Given the description of an element on the screen output the (x, y) to click on. 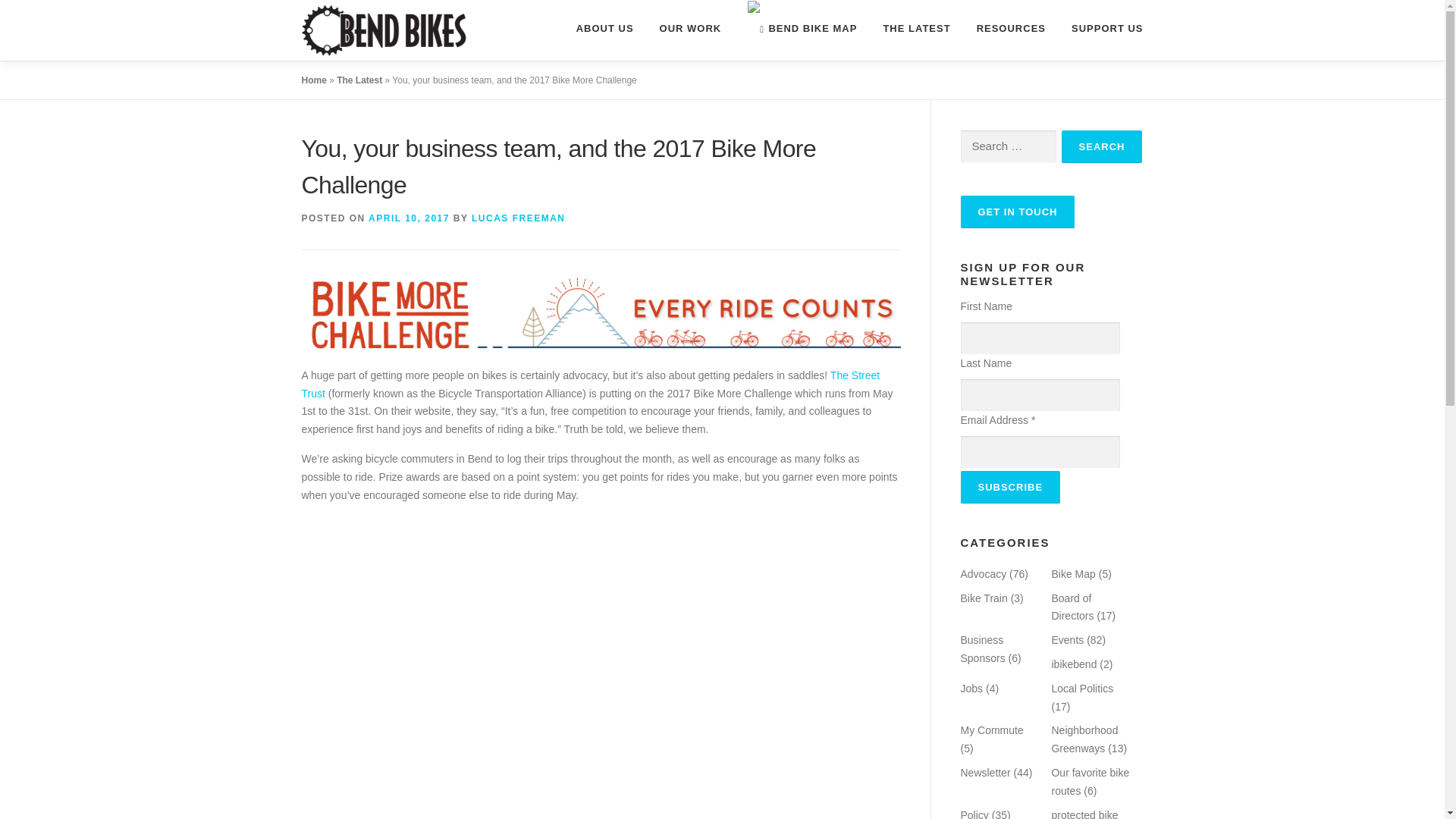
THE LATEST (915, 28)
Search (1101, 146)
Advocacy (982, 573)
Board of Directors (1072, 607)
Search (1101, 146)
Subscribe (1009, 486)
Search (1101, 146)
The Street Trust (590, 384)
Bike Map (1072, 573)
ABOUT US (604, 28)
